Given the description of an element on the screen output the (x, y) to click on. 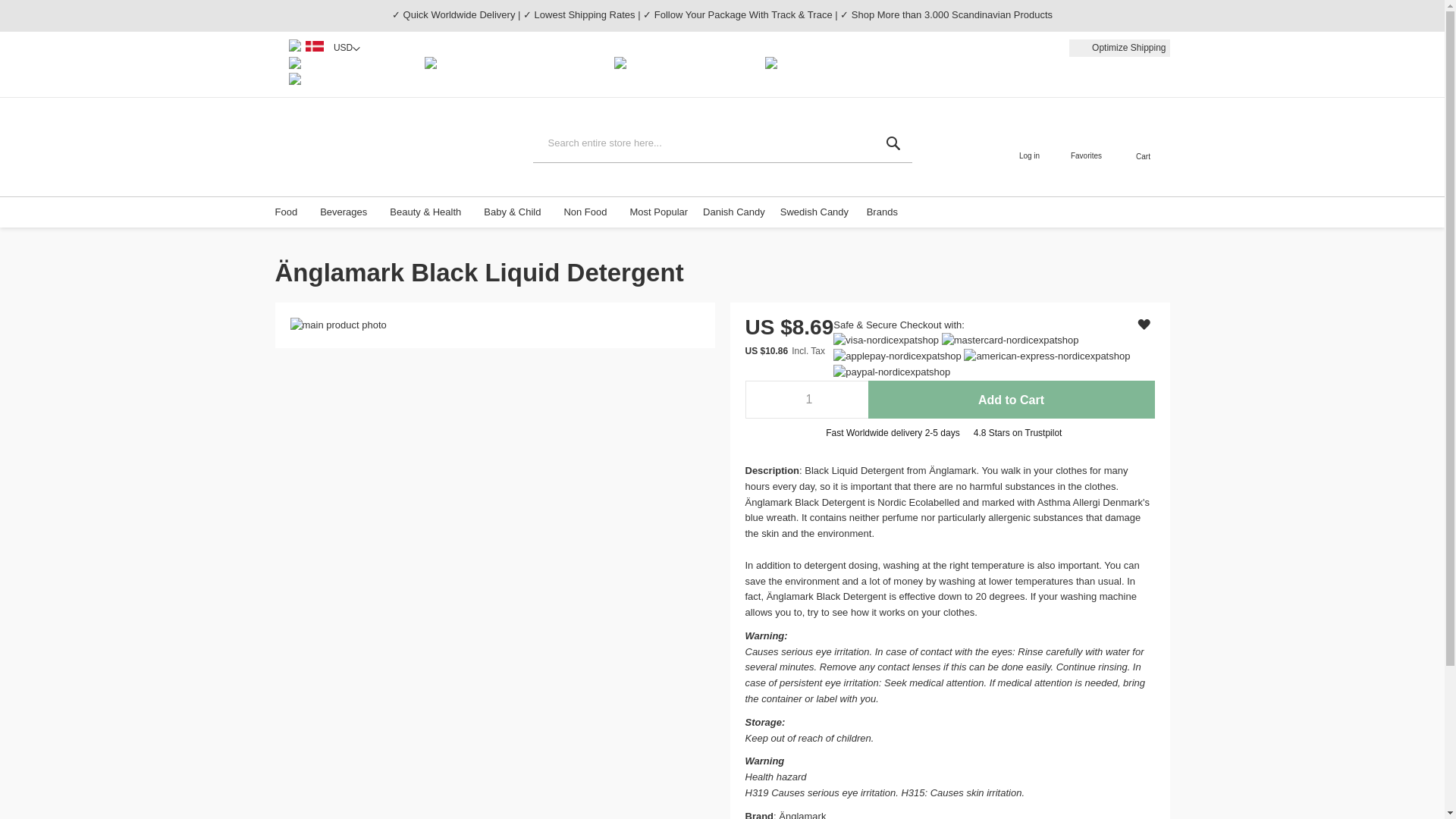
Log in (1029, 147)
My Cart (1143, 140)
Brands (885, 212)
Add to Cart (1010, 399)
Food (289, 212)
1 (805, 399)
Qty (805, 399)
Favorites (1086, 147)
